Given the description of an element on the screen output the (x, y) to click on. 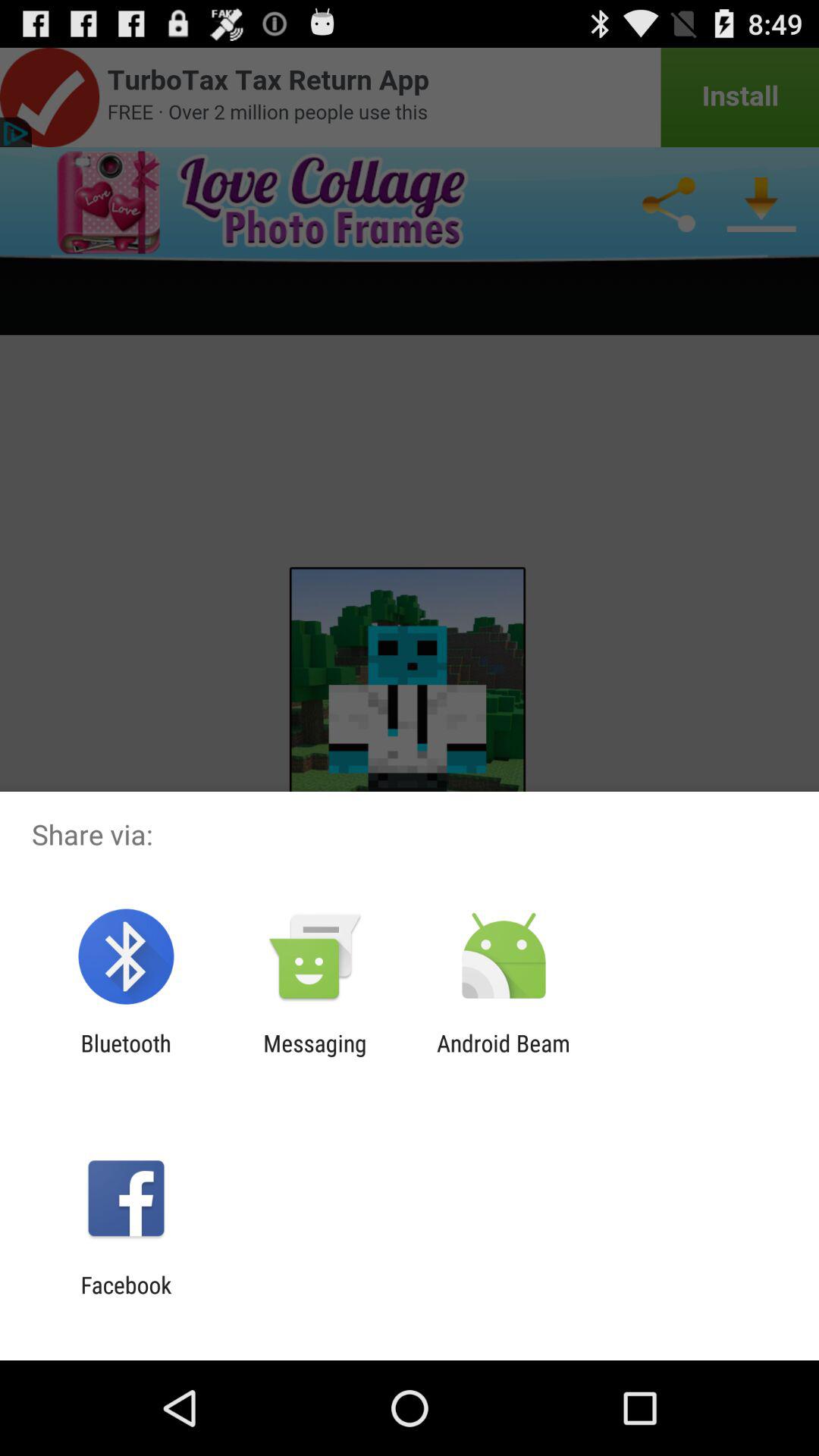
jump to facebook icon (125, 1298)
